Given the description of an element on the screen output the (x, y) to click on. 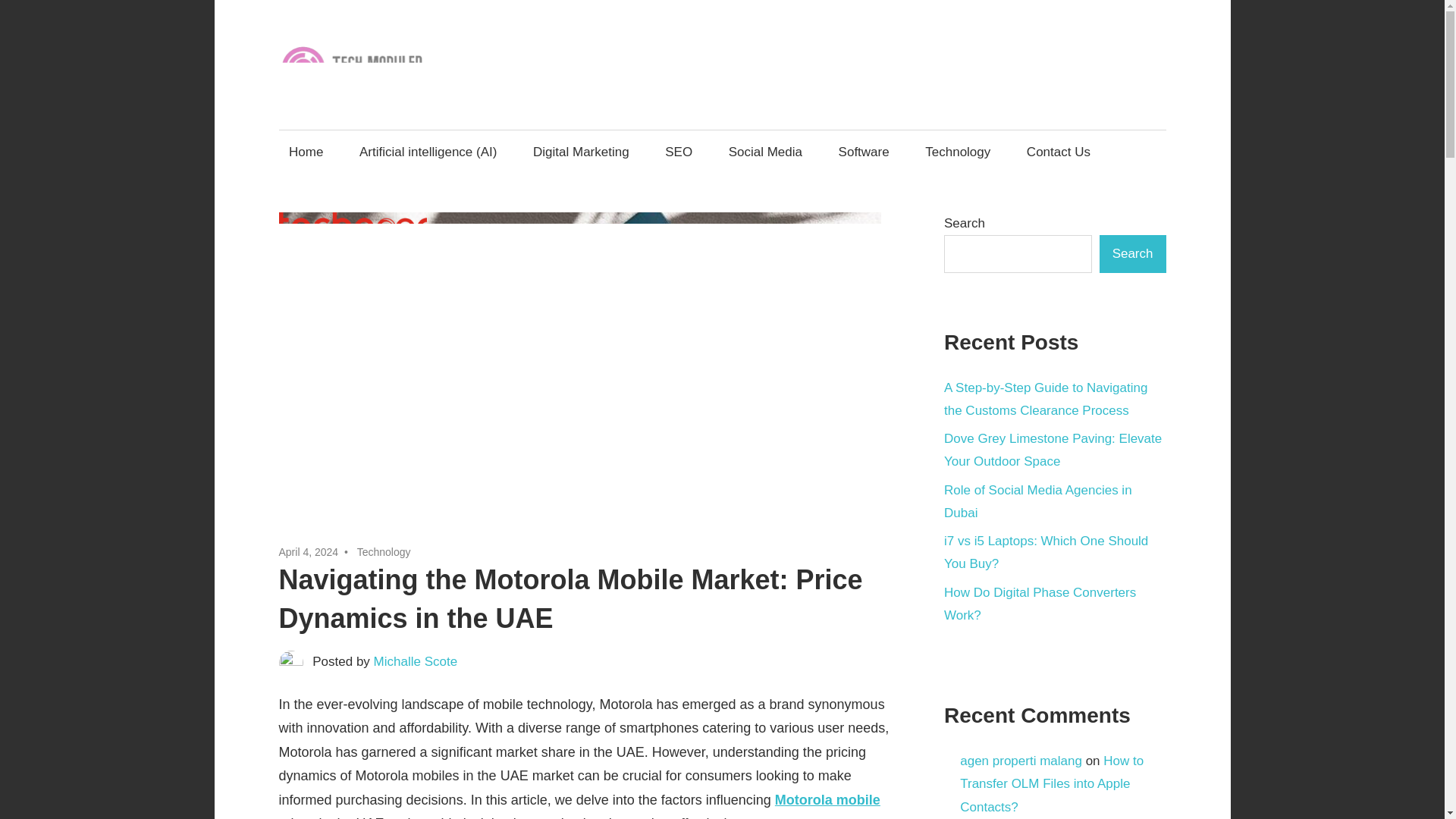
View all posts by Michalle Scote (416, 661)
Digital Marketing (580, 151)
Dove Grey Limestone Paving: Elevate Your Outdoor Space (1052, 449)
Motorola mobile (827, 799)
5:50 am (309, 551)
Michalle Scote (416, 661)
How Do Digital Phase Converters Work? (1039, 603)
Role of Social Media Agencies in Dubai (1037, 501)
Social Media (764, 151)
Home (306, 151)
Technology (958, 151)
April 4, 2024 (309, 551)
agen properti malang (1020, 760)
SEO (679, 151)
How to Transfer OLM Files into Apple Contacts? (1050, 783)
